Given the description of an element on the screen output the (x, y) to click on. 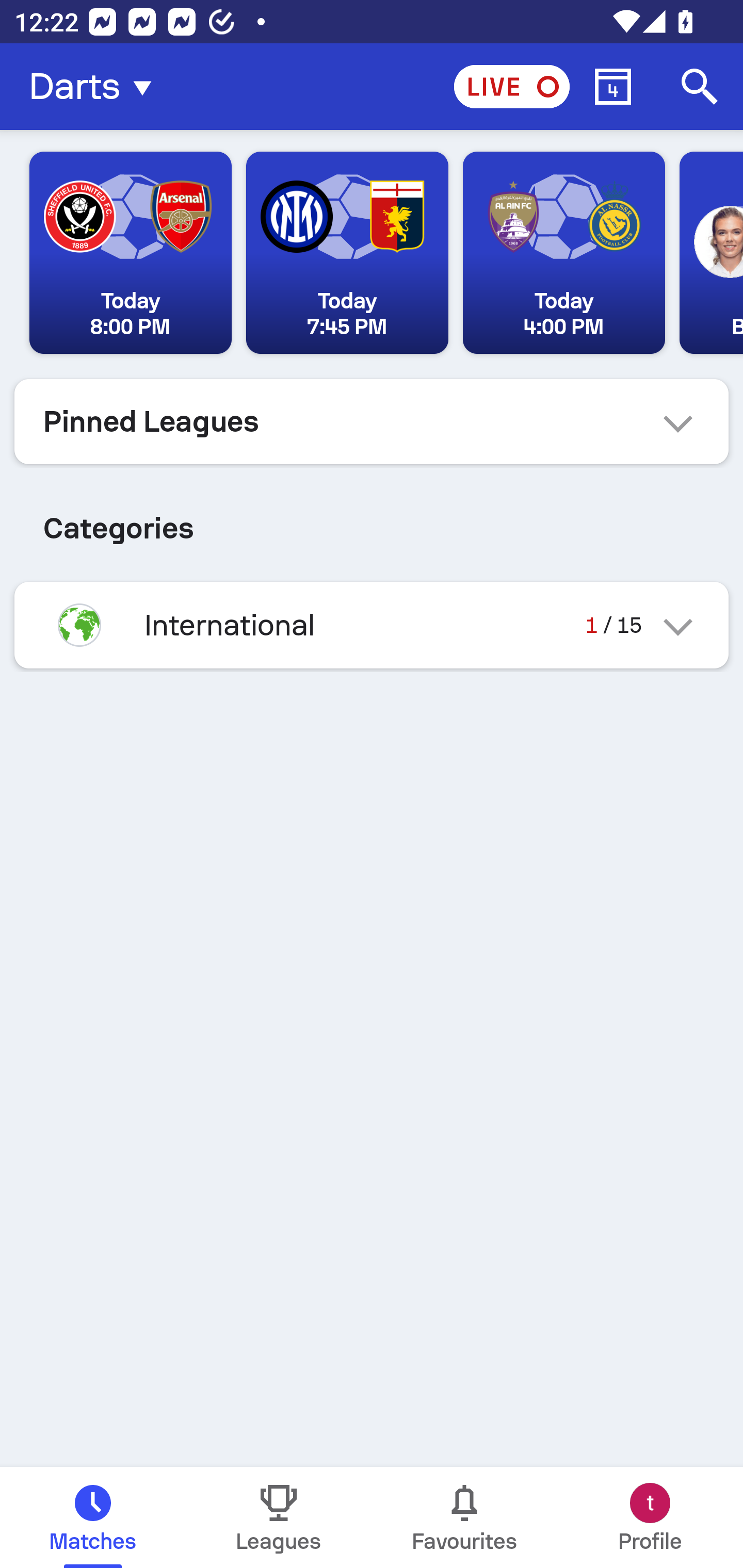
Darts (96, 86)
Calendar (612, 86)
Search (699, 86)
Today
8:00 PM (130, 253)
Today
7:45 PM (346, 253)
Today
4:00 PM (563, 253)
Pinned Leagues (371, 421)
Categories (371, 520)
International 1 / 15 (371, 624)
Leagues (278, 1517)
Favourites (464, 1517)
Profile (650, 1517)
